Given the description of an element on the screen output the (x, y) to click on. 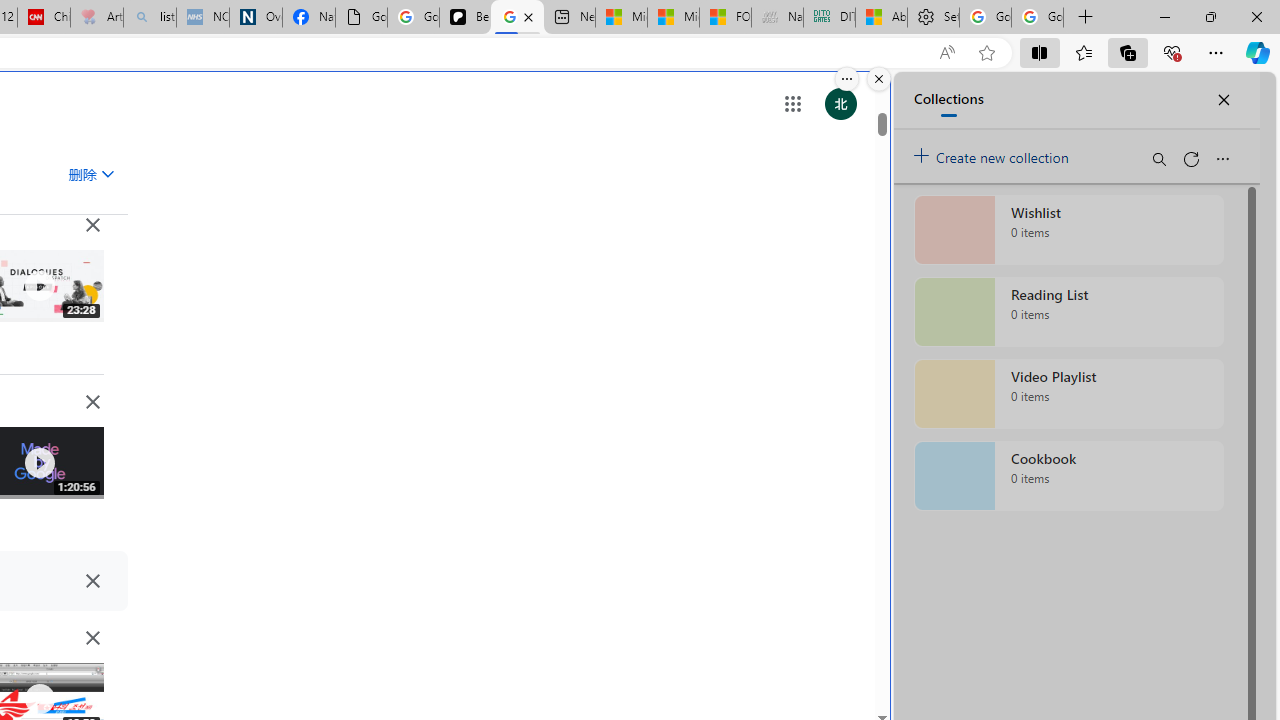
Class: DI7Mnf NMm5M (91, 580)
Google Analytics Opt-out Browser Add-on Download Page (360, 17)
Class: gb_E (792, 103)
